Given the description of an element on the screen output the (x, y) to click on. 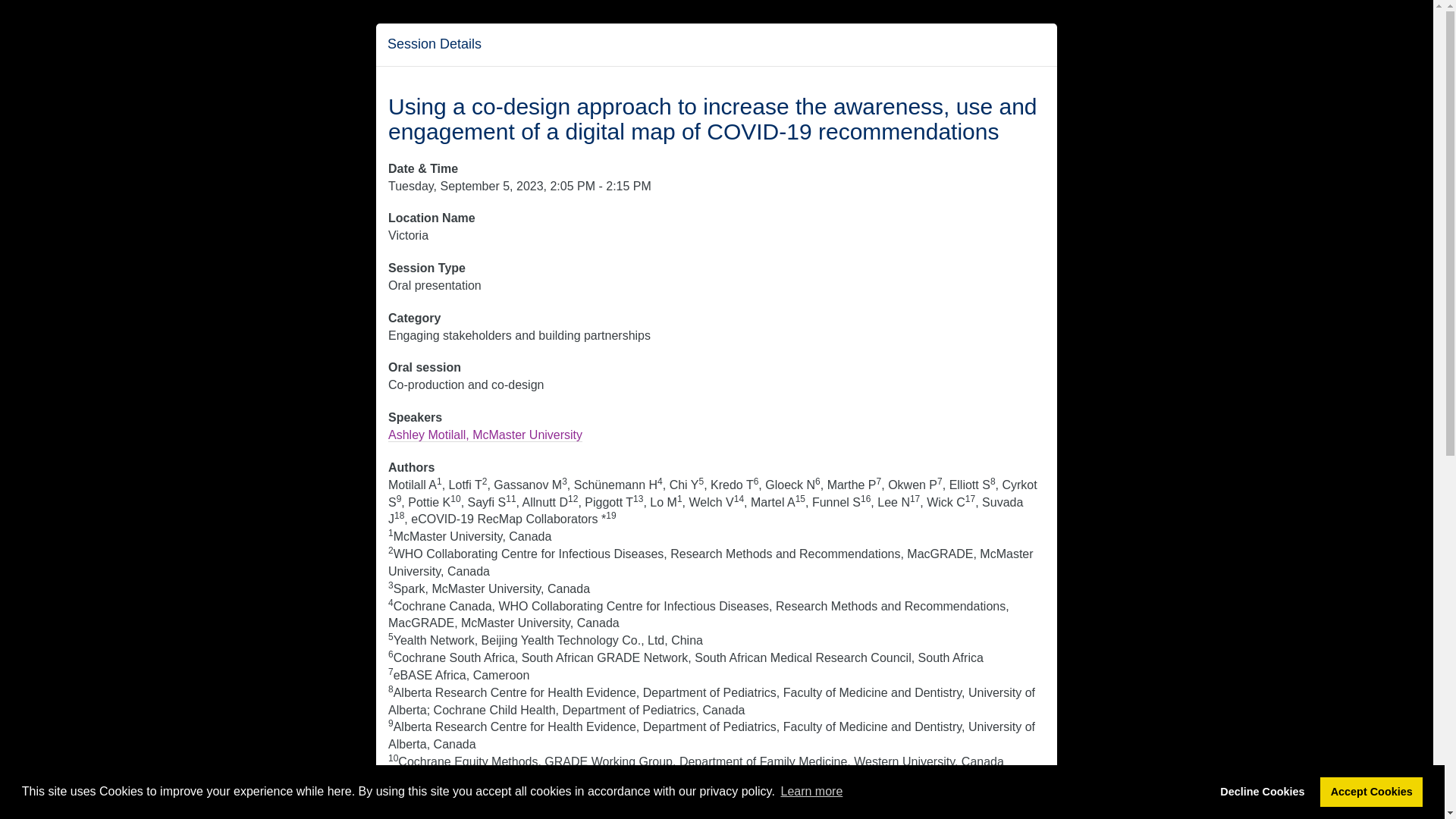
Accept Cookies (1371, 791)
Speaker Details (485, 435)
Ashley Motilall, McMaster University (485, 435)
Decline Cookies (1261, 791)
Learn more (810, 791)
